Given the description of an element on the screen output the (x, y) to click on. 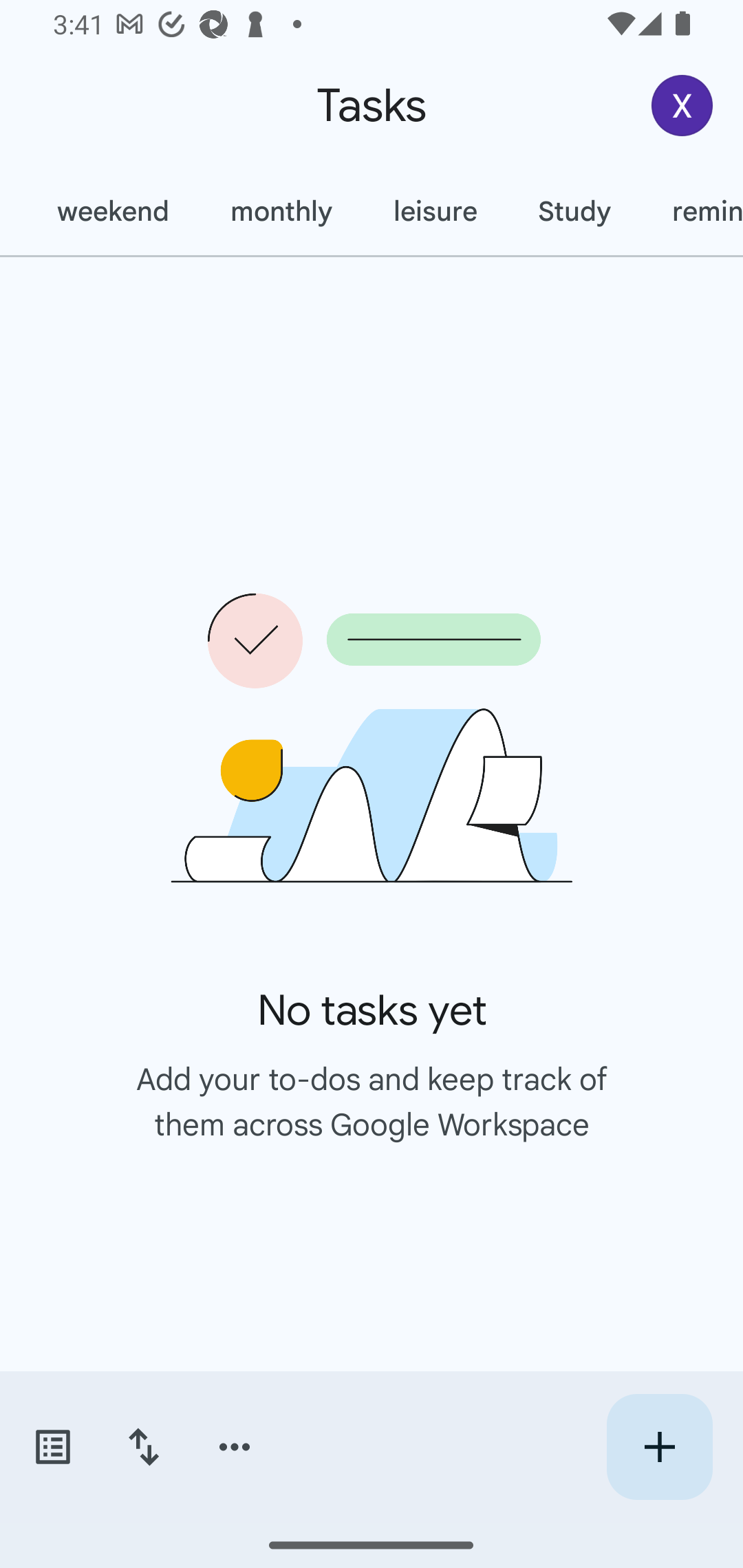
weekend (112, 211)
monthly (280, 211)
leisure (434, 211)
Study (573, 211)
reminders (692, 211)
Switch task lists (52, 1447)
Create new task (659, 1446)
Change sort order (143, 1446)
More options (234, 1446)
